Given the description of an element on the screen output the (x, y) to click on. 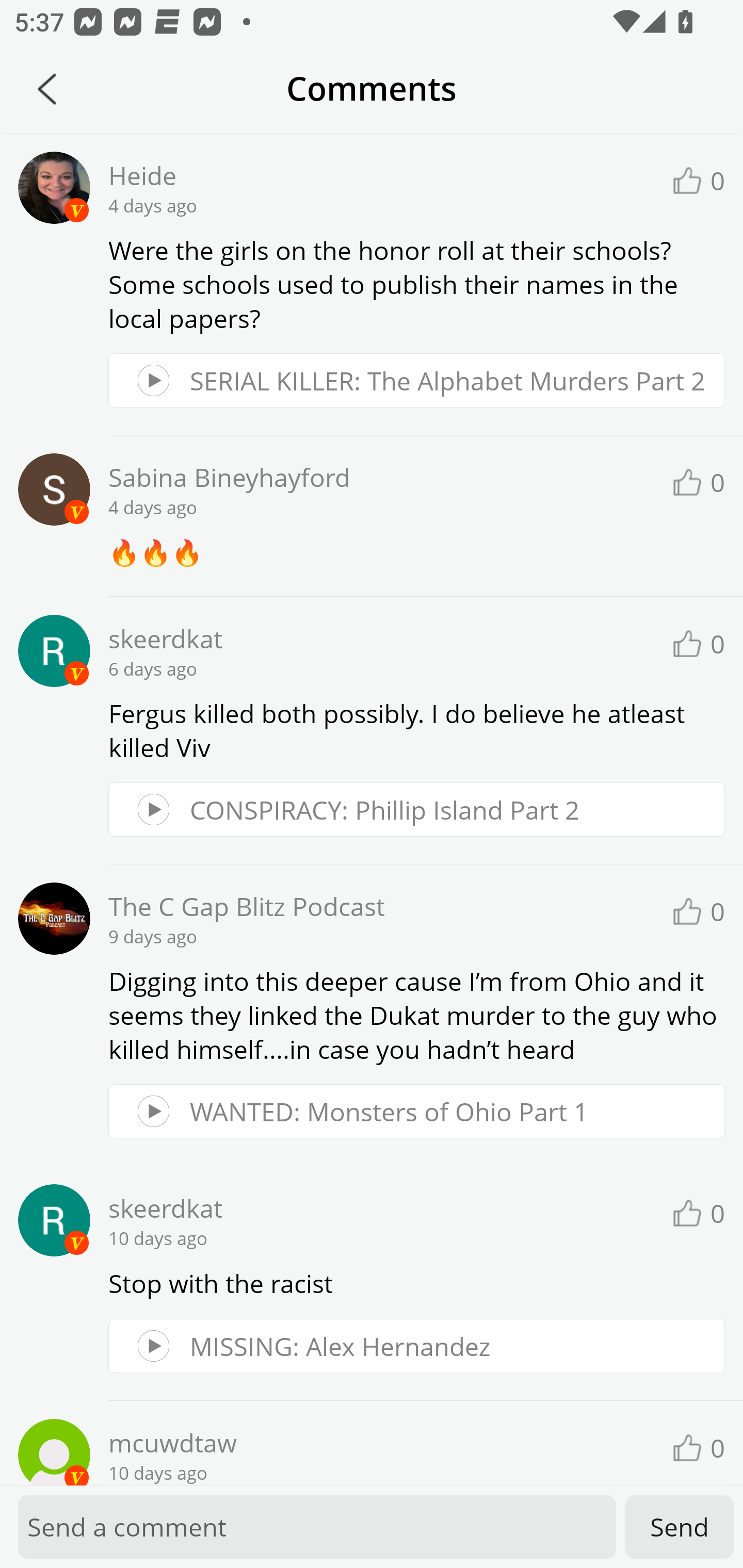
Back (46, 88)
Send a comment (316, 1526)
Send (679, 1526)
